Given the description of an element on the screen output the (x, y) to click on. 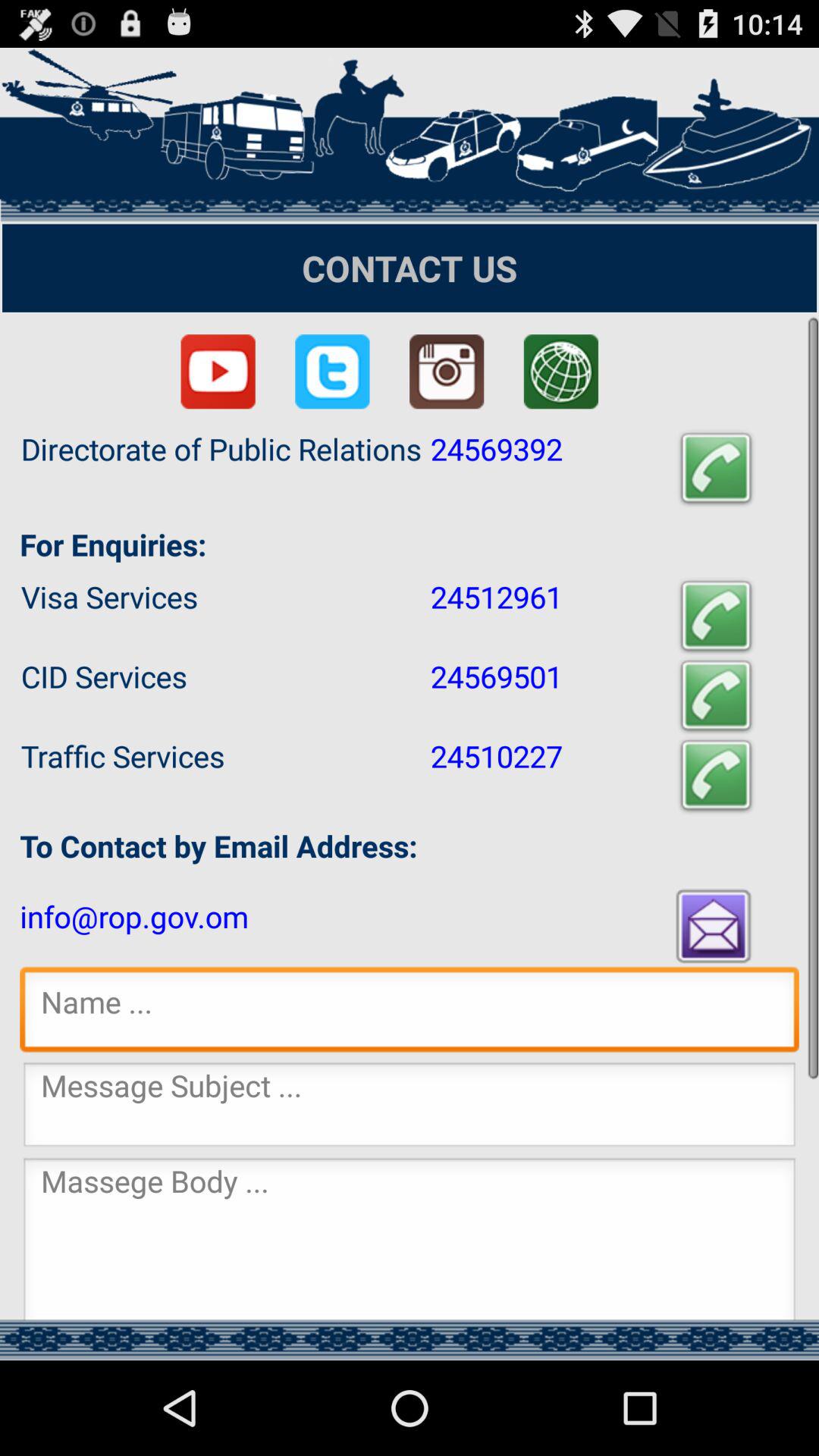
click call option (716, 695)
